Given the description of an element on the screen output the (x, y) to click on. 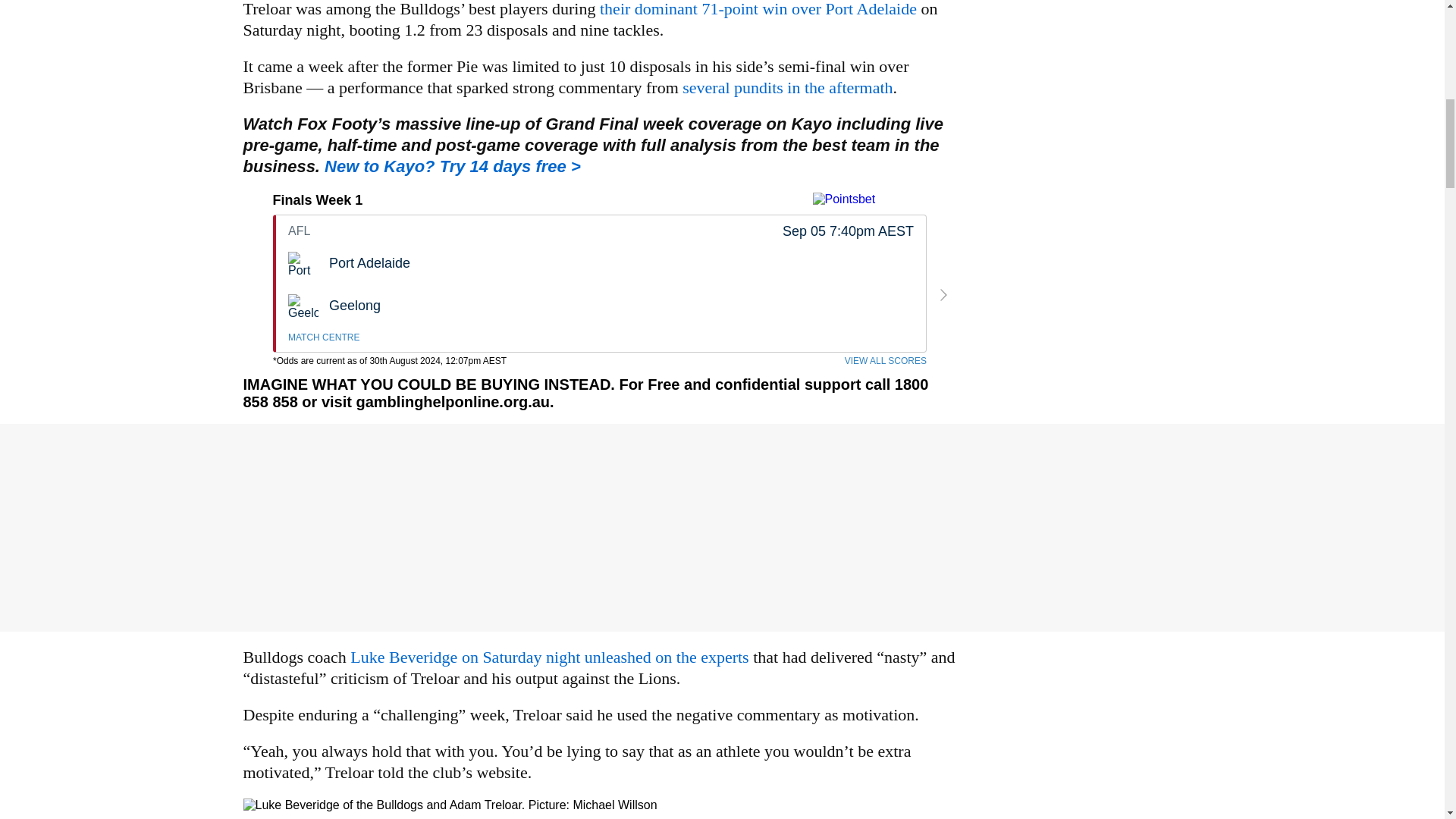
several pundits in the aftermath (787, 87)
VIEW ALL SCORES (885, 360)
their dominant 71-point win over Port Adelaide (758, 9)
Luke Beveridge on Saturday night unleashed on the experts (601, 283)
